Given the description of an element on the screen output the (x, y) to click on. 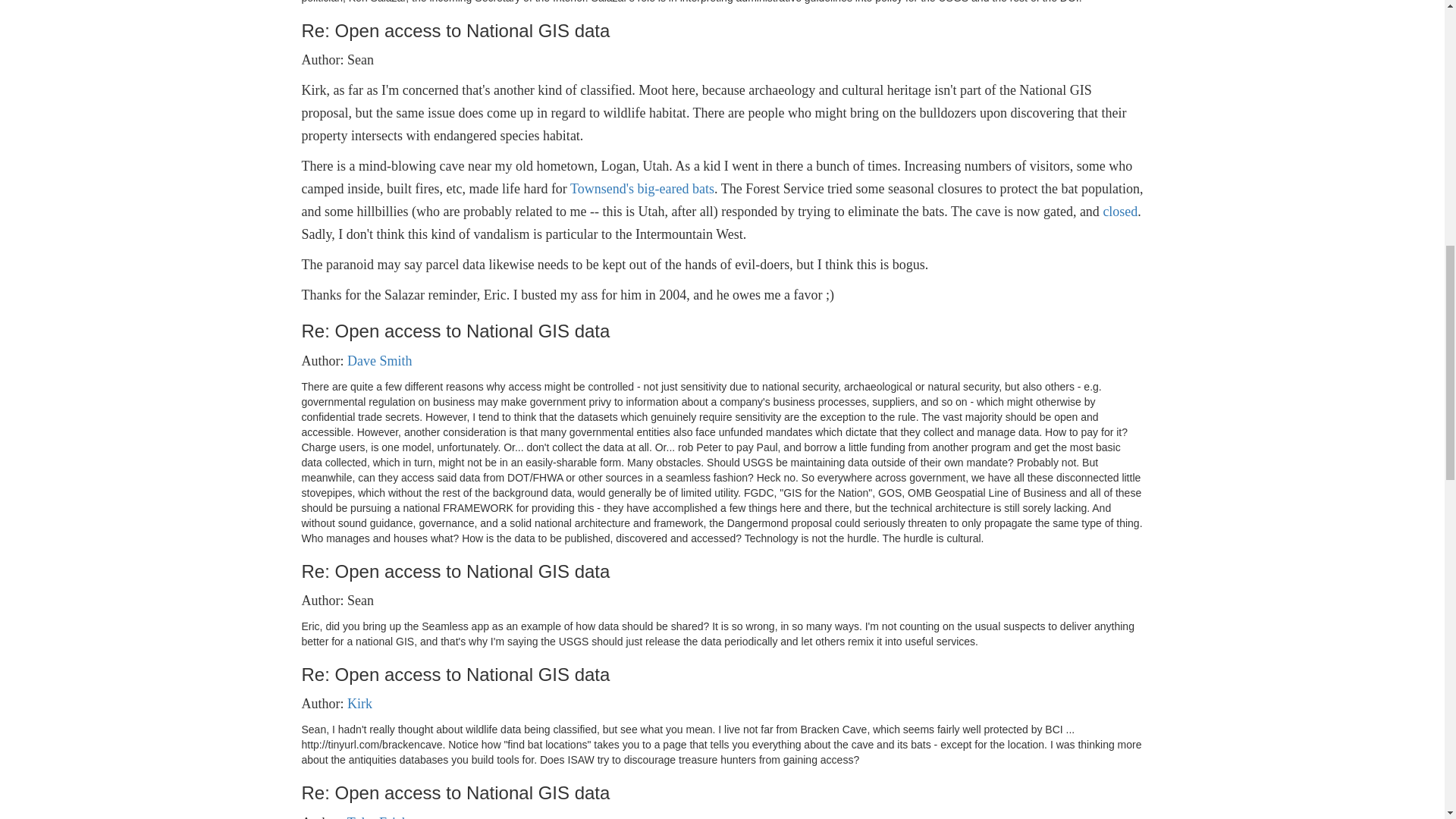
Dave Smith (379, 360)
Tyler Erickson (387, 816)
closed (1119, 211)
Townsend's big-eared bats (642, 188)
Kirk (359, 703)
